Given the description of an element on the screen output the (x, y) to click on. 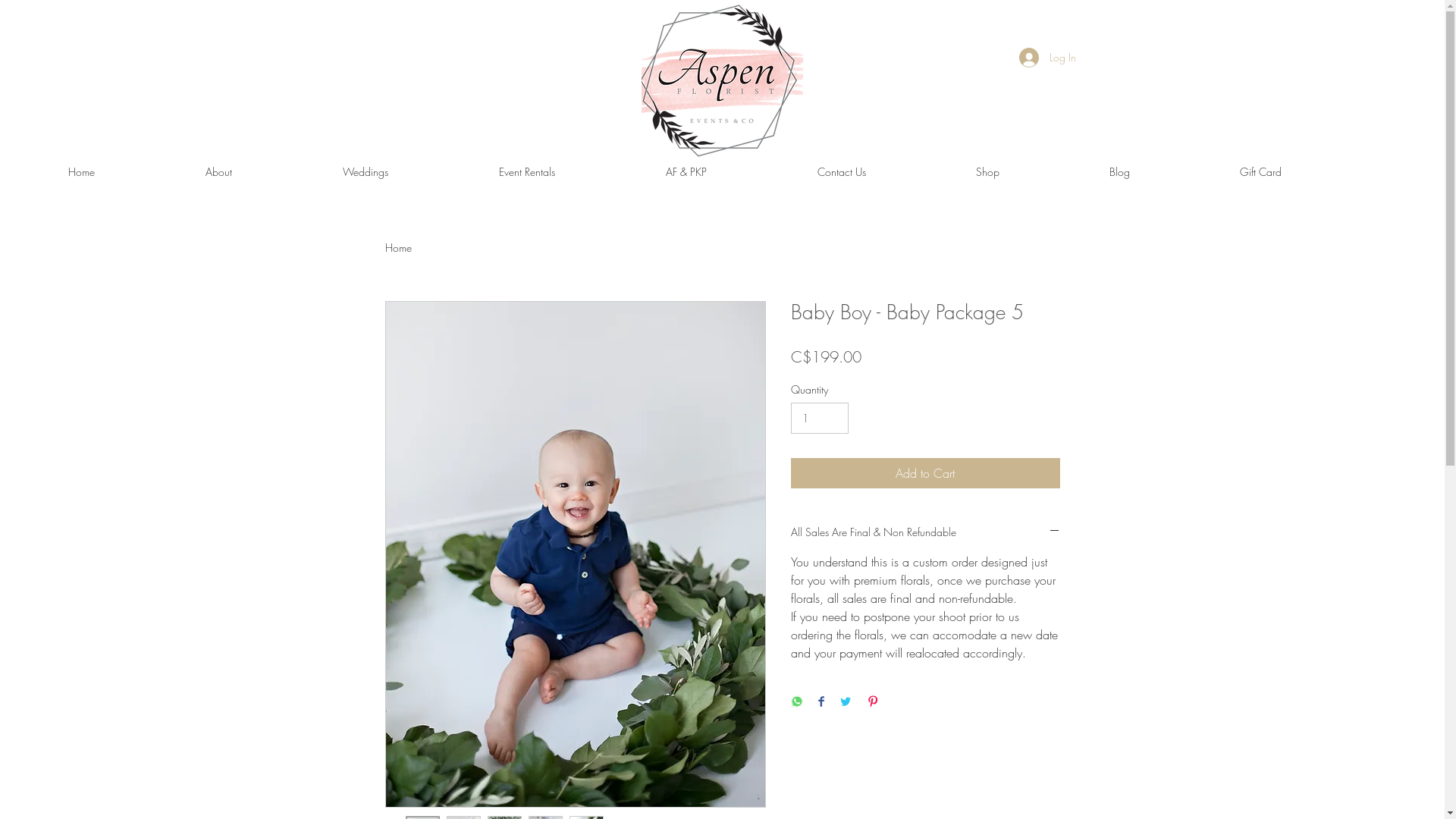
All Sales Are Final & Non Refundable Element type: text (924, 531)
Event Rentals Element type: text (574, 171)
Home Element type: text (398, 247)
Home Element type: text (128, 171)
Weddings Element type: text (413, 171)
Blog Element type: text (1166, 171)
About Element type: text (266, 171)
Gift Card Element type: text (1307, 171)
Shop Element type: text (1034, 171)
Add to Cart Element type: text (924, 473)
AF & PKP Element type: text (733, 171)
Log In Element type: text (1047, 57)
Contact Us Element type: text (888, 171)
